Given the description of an element on the screen output the (x, y) to click on. 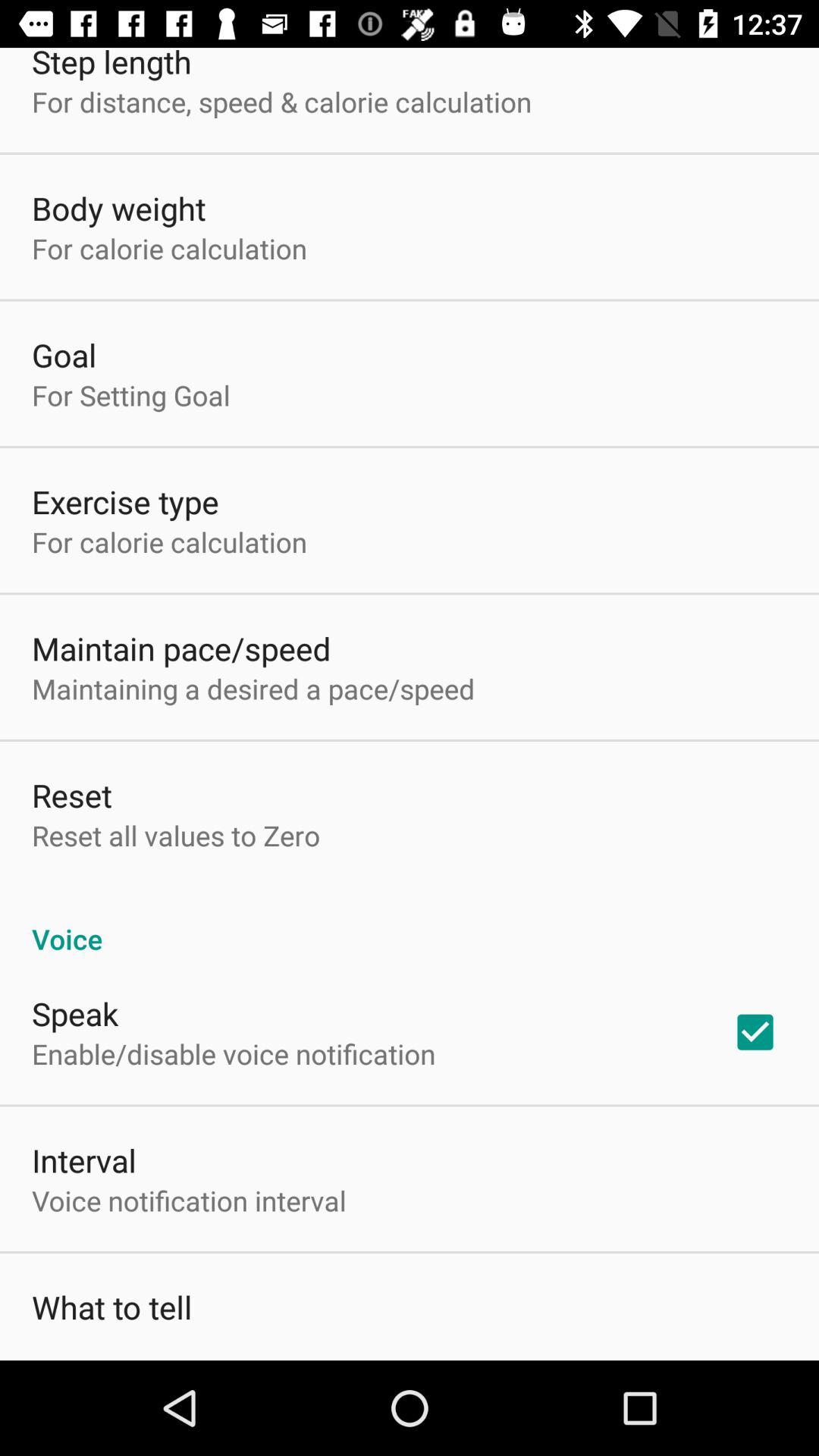
select reset all values item (175, 835)
